Given the description of an element on the screen output the (x, y) to click on. 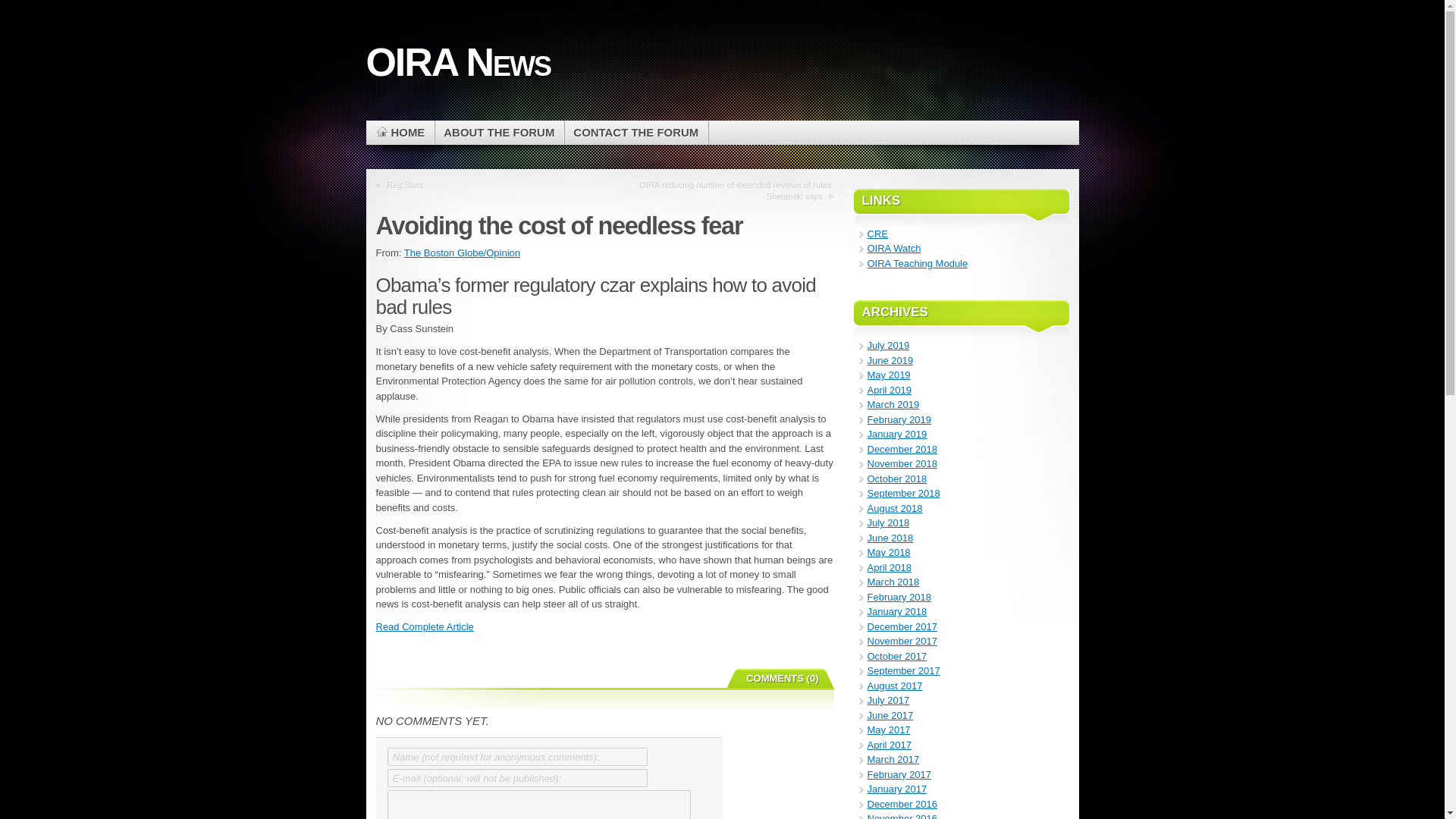
Reg Stats (405, 184)
July 2019 (888, 345)
Contact the Forum (635, 132)
July 2018 (888, 522)
June 2018 (890, 537)
Click for Home (399, 132)
November 2017 (902, 641)
June 2019 (890, 360)
May 2018 (889, 552)
February 2018 (899, 596)
